Given the description of an element on the screen output the (x, y) to click on. 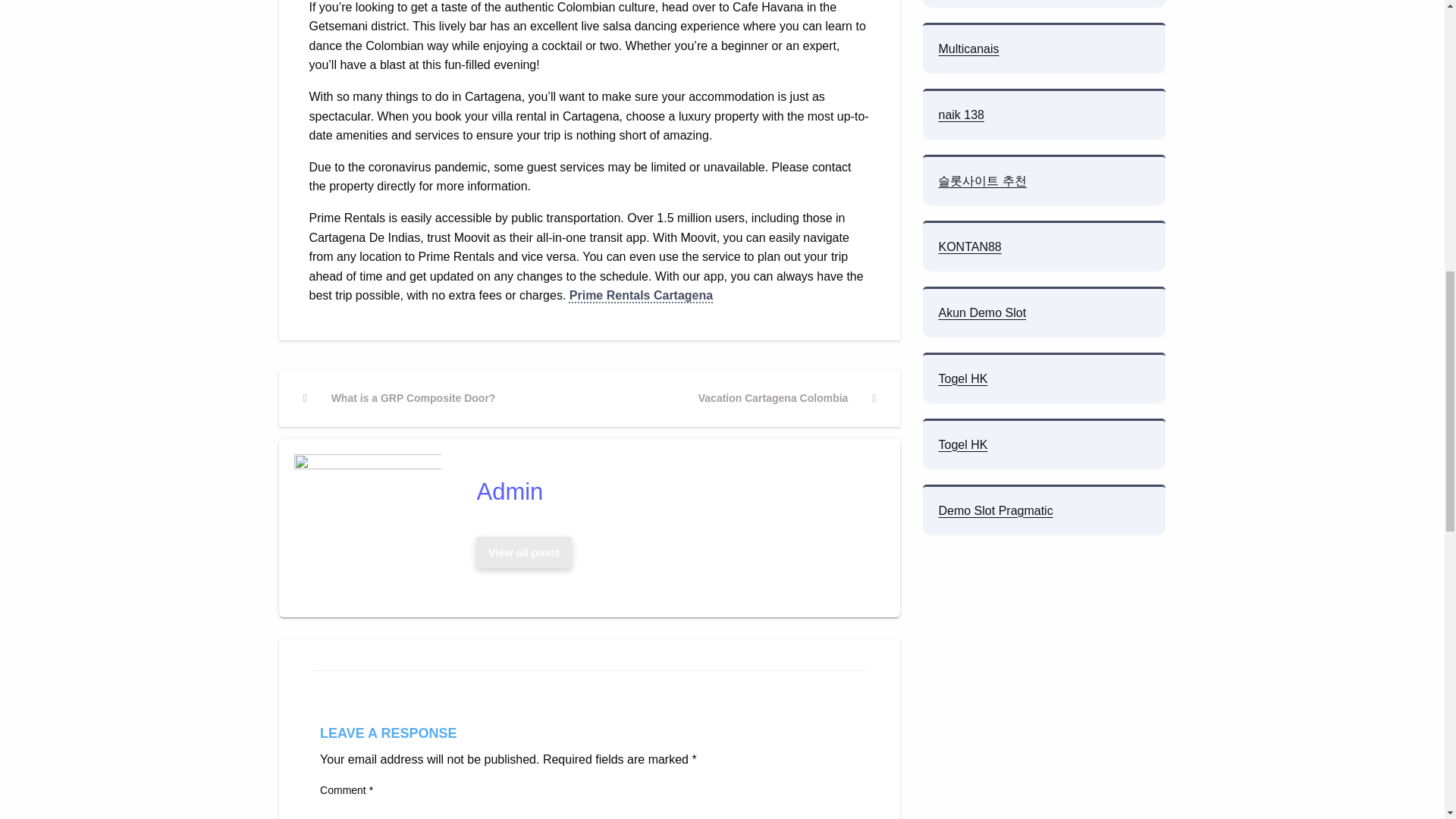
View all posts (524, 552)
naik 138 (960, 114)
Multicanais (967, 48)
Admin (523, 552)
View all posts (787, 398)
Prime Rentals Cartagena (523, 552)
Admin (641, 295)
Admin (674, 491)
